Given the description of an element on the screen output the (x, y) to click on. 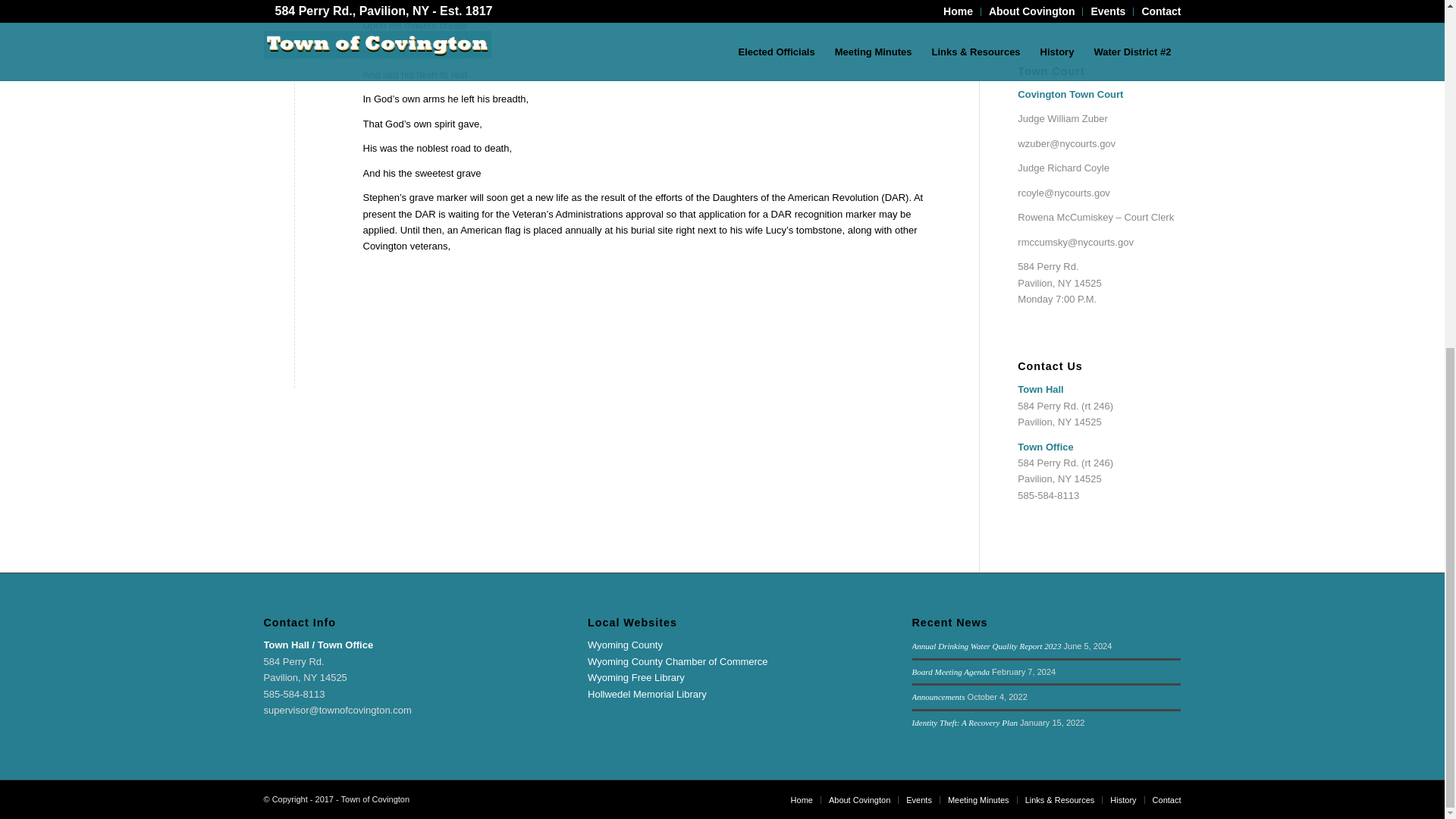
Annual Drinking Water Quality Report 2023 (986, 645)
Hollwedel Memorial Library (647, 694)
Wyoming County (625, 644)
Meeting Minutes (978, 798)
Announcements (938, 696)
History (1122, 798)
Home (801, 798)
Contact (1166, 798)
Wyoming Free Library (636, 677)
Identity Theft: A Recovery Plan (964, 722)
